Given the description of an element on the screen output the (x, y) to click on. 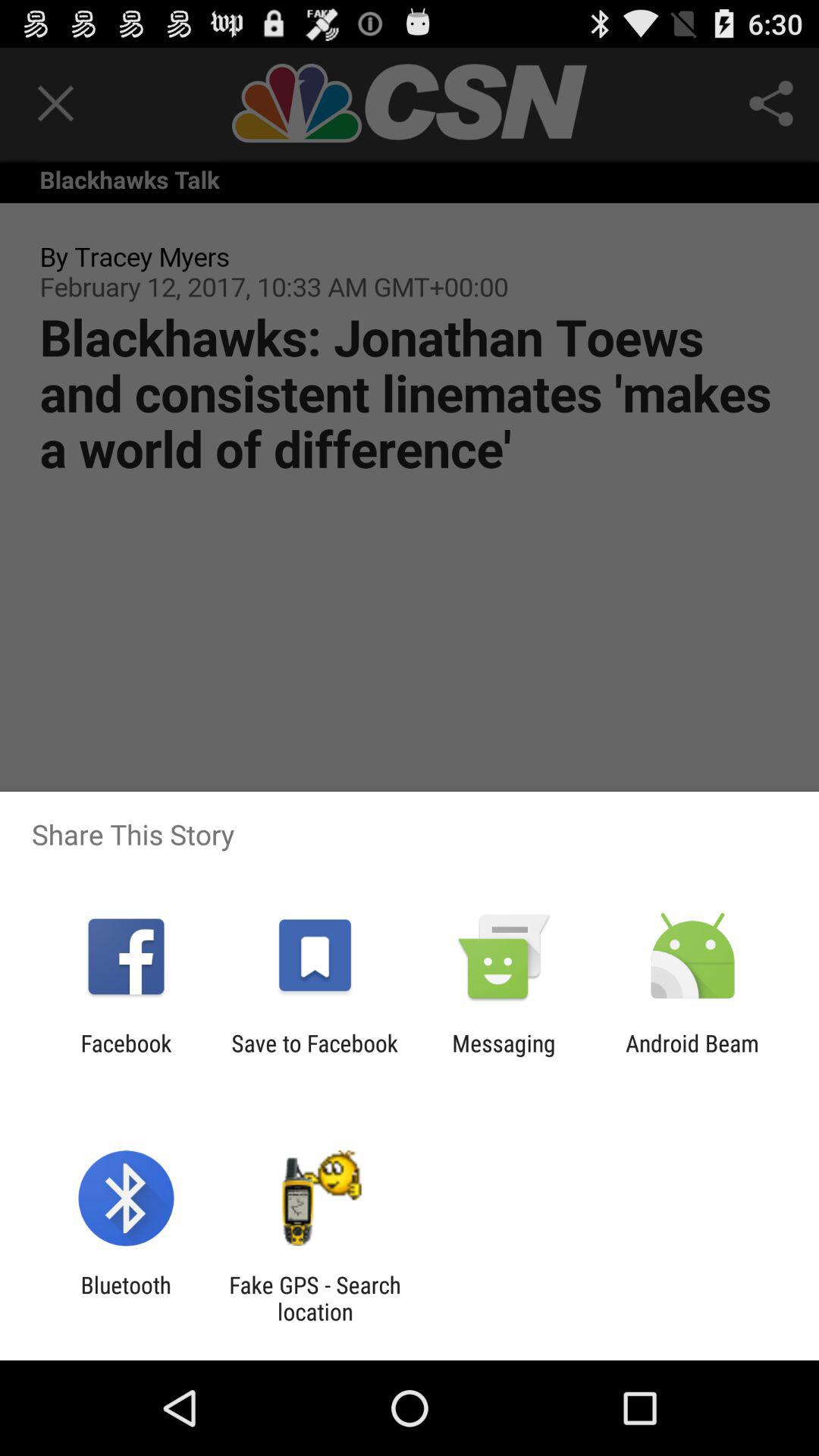
turn off the item next to the messaging icon (692, 1056)
